Given the description of an element on the screen output the (x, y) to click on. 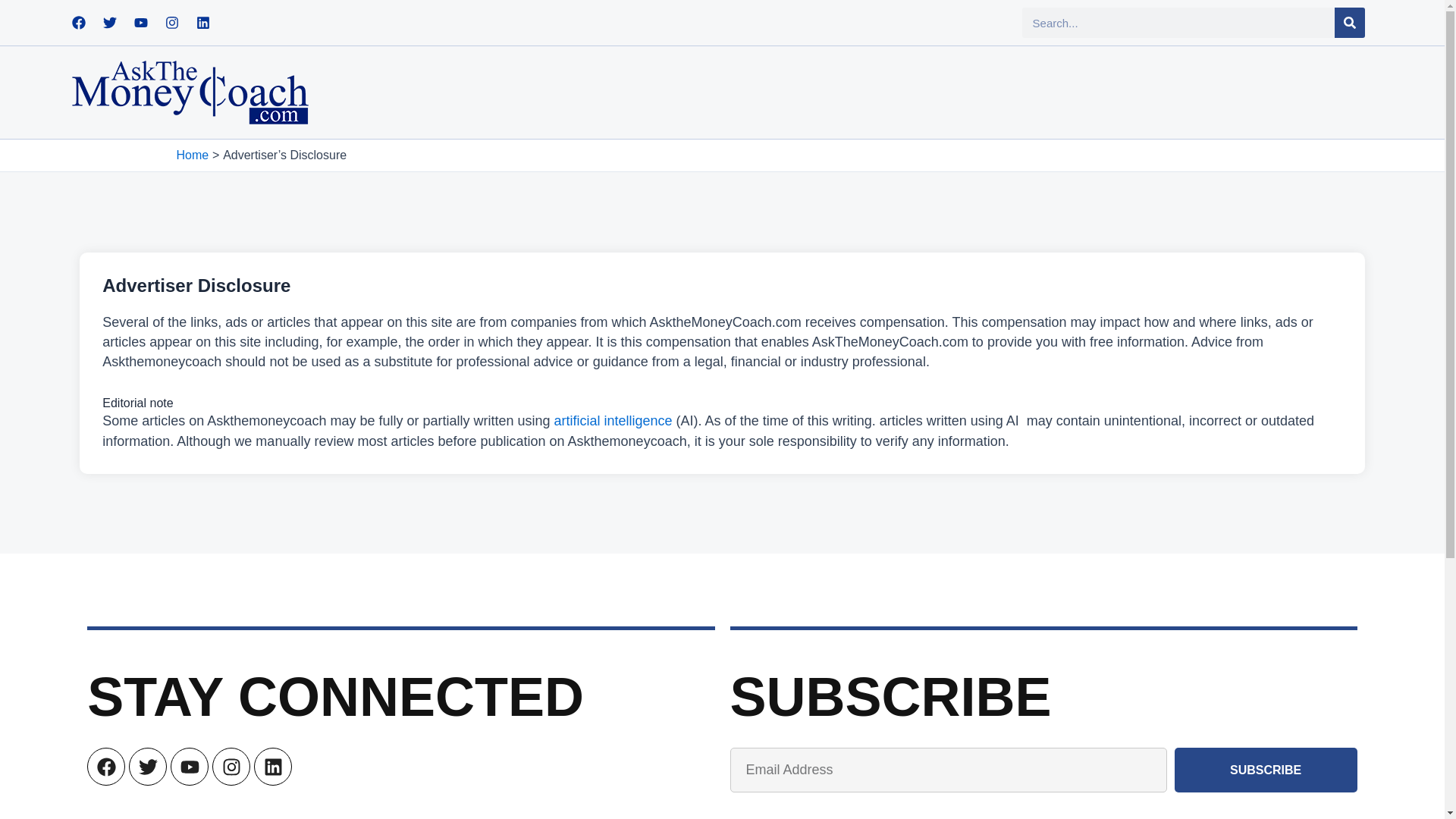
SUBSCRIBE (1265, 769)
artificial intelligence (613, 420)
Youtube (189, 766)
Twitter (148, 766)
Linkedin (272, 766)
Instagram (231, 766)
Facebook (78, 22)
Search (1350, 22)
Twitter (109, 22)
Youtube (140, 22)
